Given the description of an element on the screen output the (x, y) to click on. 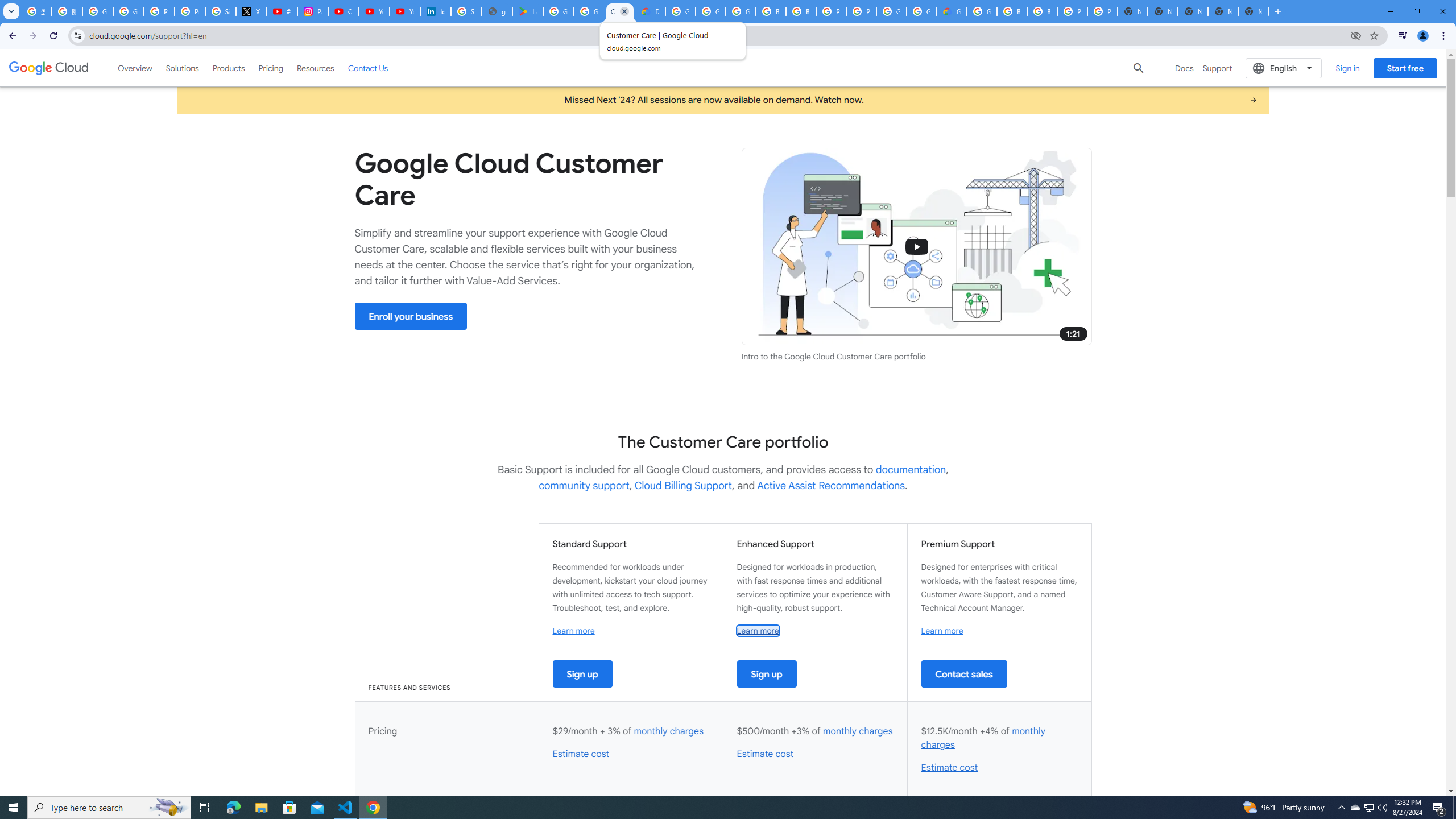
YouTube Culture & Trends - YouTube Top 10, 2021 (404, 11)
Contact Us (368, 67)
